Given the description of an element on the screen output the (x, y) to click on. 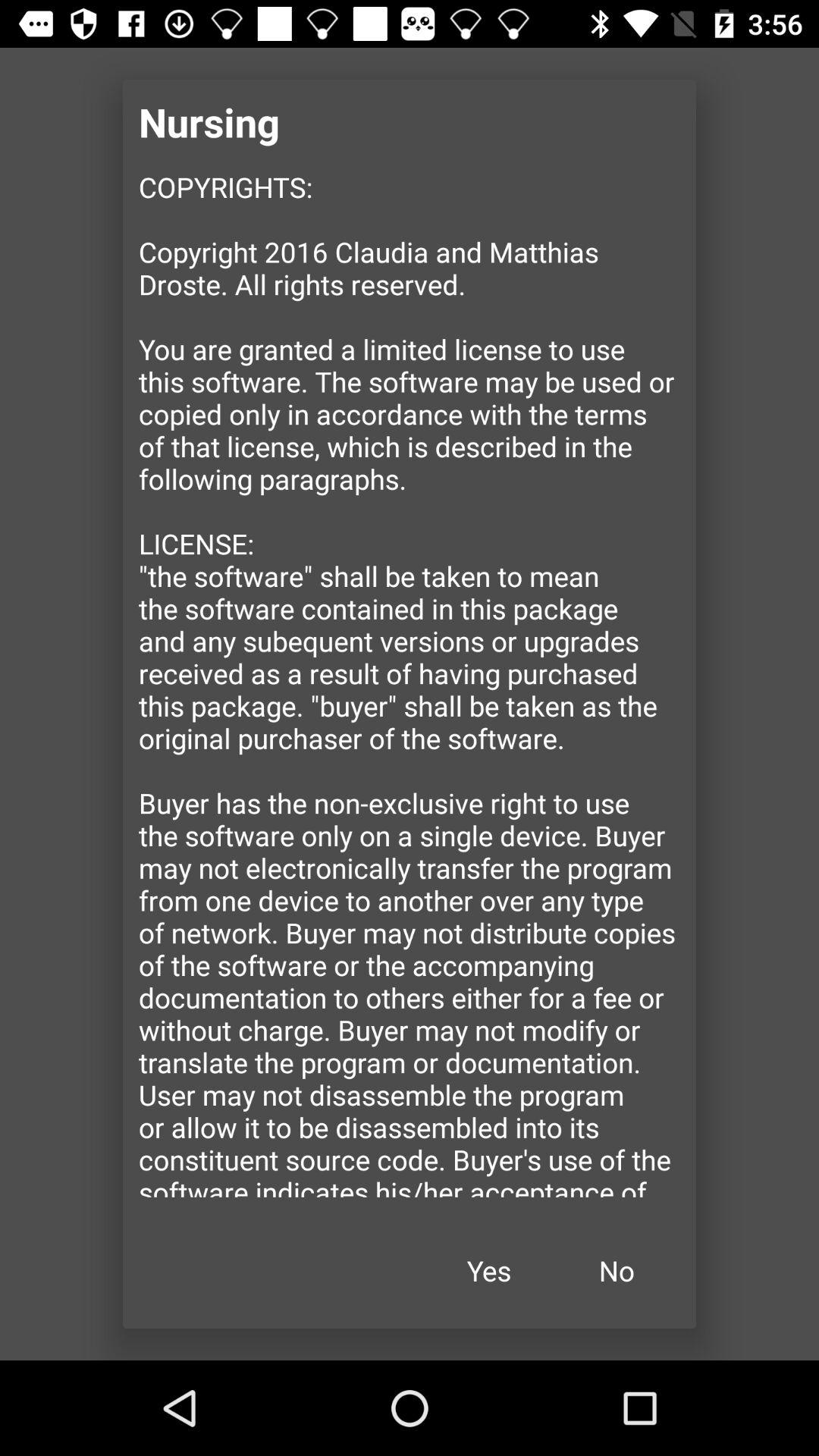
choose the icon at the bottom right corner (616, 1270)
